Given the description of an element on the screen output the (x, y) to click on. 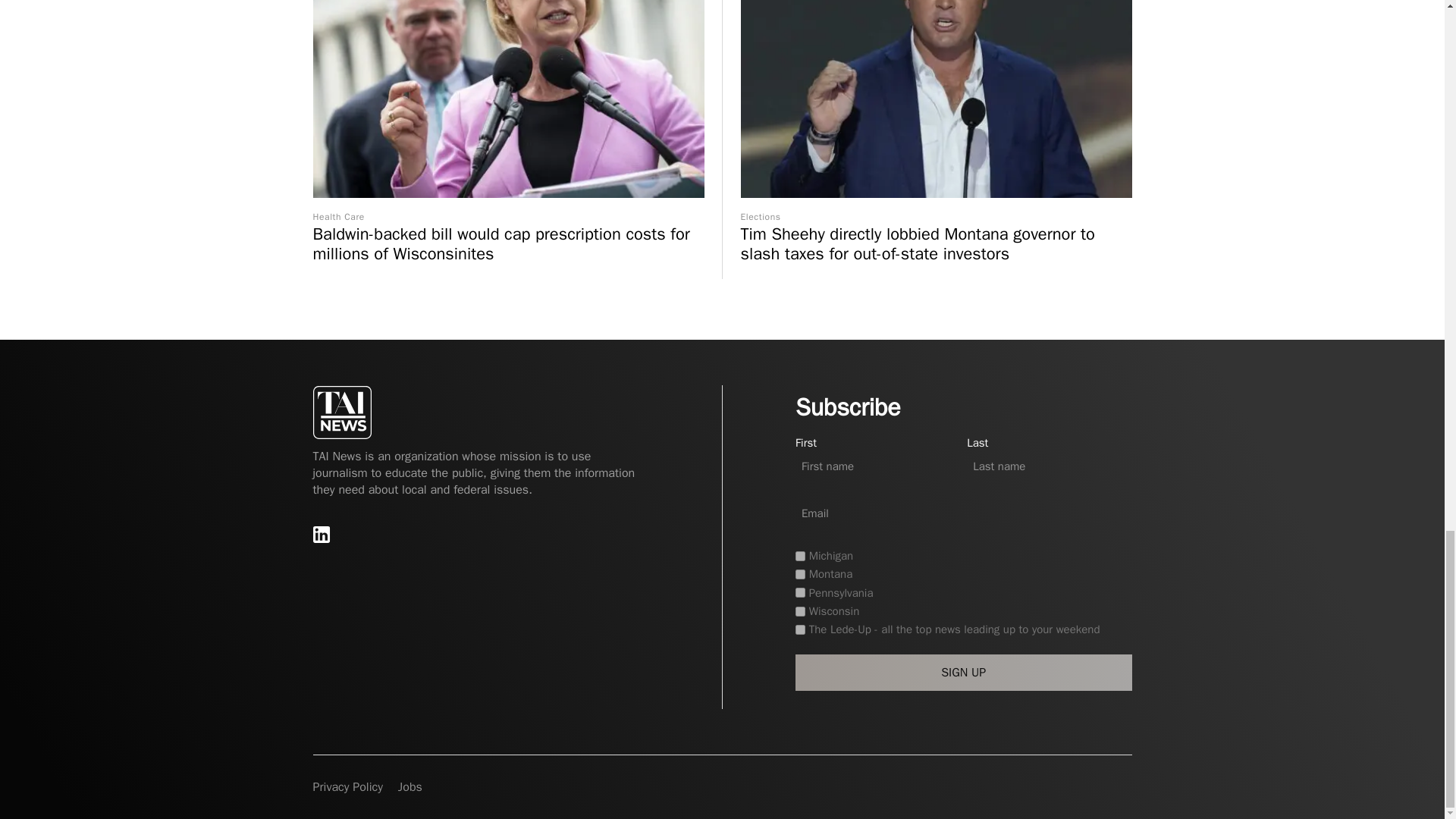
The Lede-Up - all the top news leading up to your weekend (799, 629)
Sign Up (963, 672)
Sign Up (963, 672)
Privacy Policy (347, 786)
Wisconsin (799, 610)
Jobs (409, 786)
Michigan (799, 556)
Pennsylvania (799, 592)
Montana (799, 574)
